Given the description of an element on the screen output the (x, y) to click on. 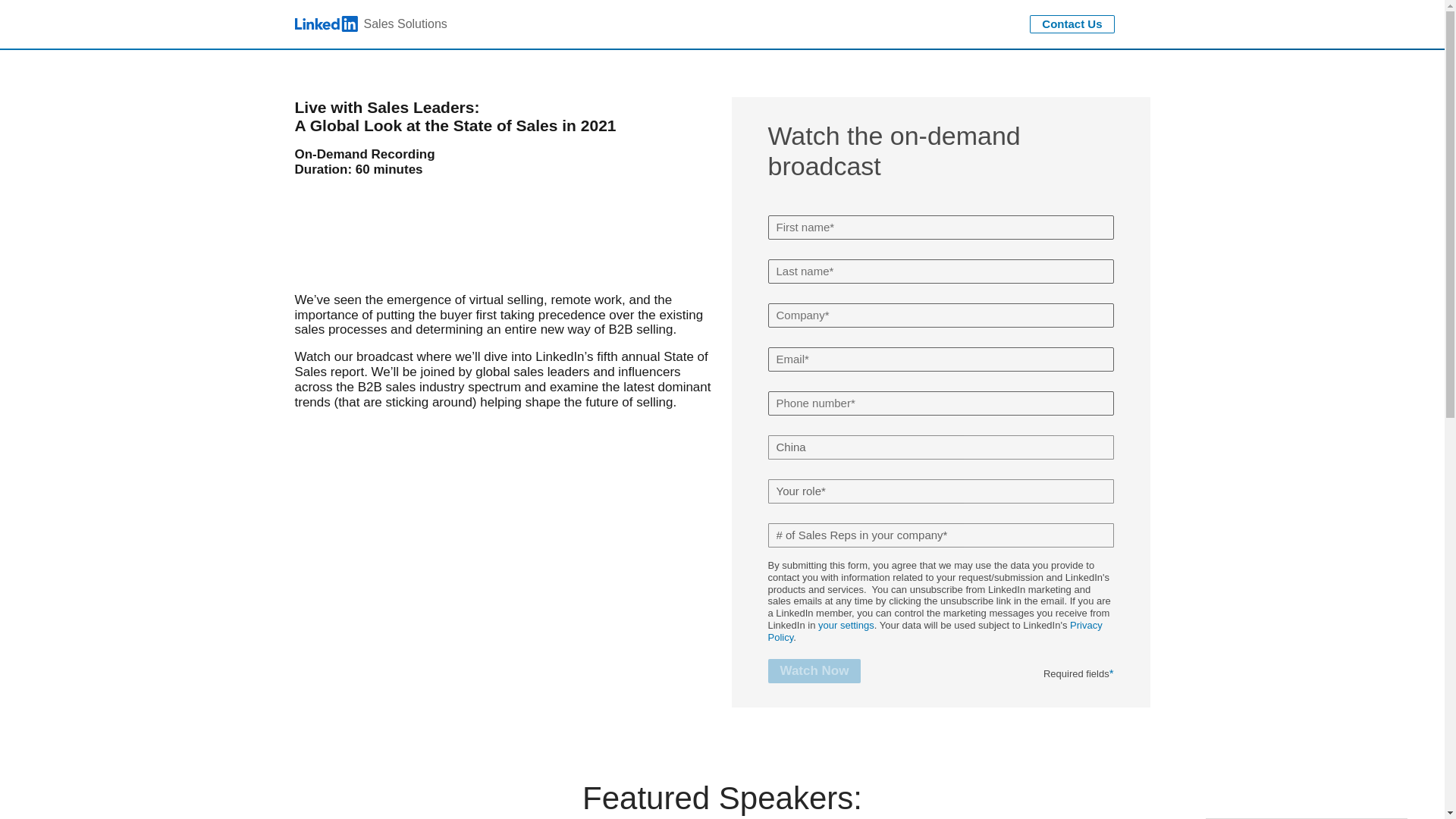
Privacy Policy (934, 630)
Watch Now (813, 671)
First name is a required field. (940, 227)
Contact Us (1071, 24)
Phone number is a required field. (940, 403)
Company is a required field. (940, 315)
Email is a required field. (940, 359)
your settings (370, 23)
Contact Us (846, 624)
